Given the description of an element on the screen output the (x, y) to click on. 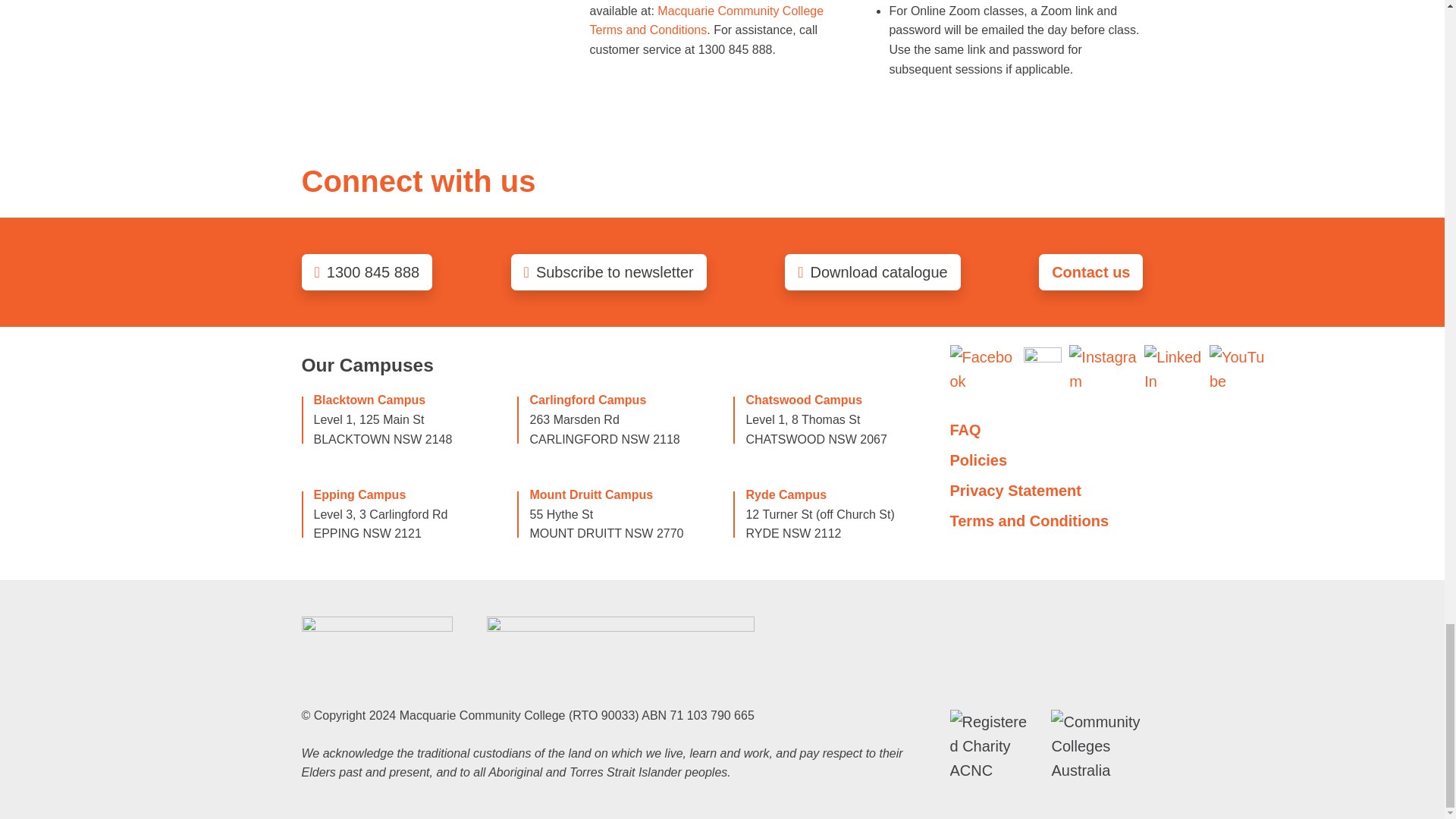
Subscribe to newsletter (608, 271)
Call us on 1300 845 888 (366, 271)
Contact us (1090, 271)
Download catalogue (872, 271)
Blacktown Campus (370, 399)
